Given the description of an element on the screen output the (x, y) to click on. 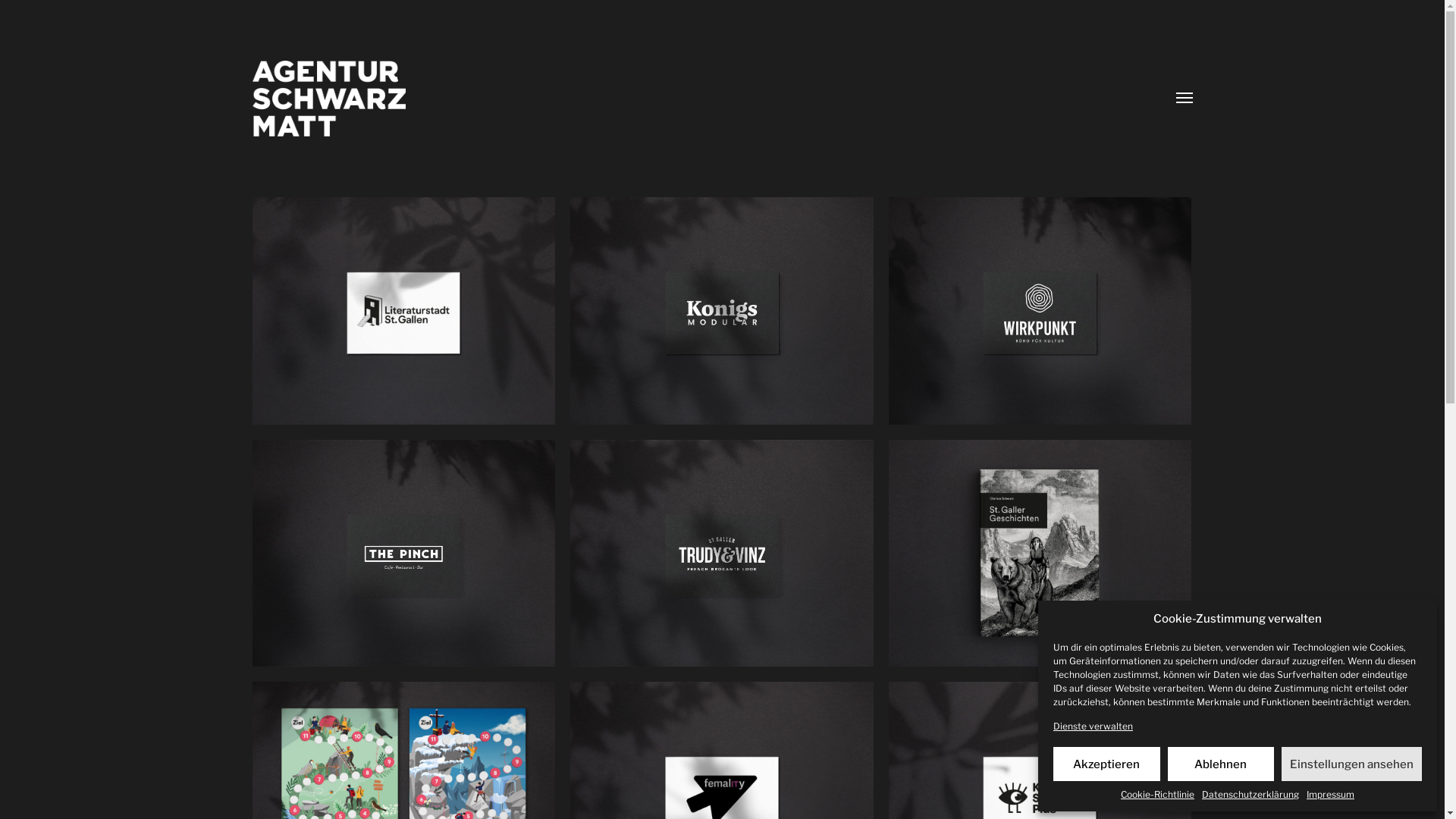
Ablehnen Element type: text (1220, 763)
Dienste verwalten Element type: text (1092, 725)
Impressum Element type: text (1330, 794)
Einstellungen ansehen Element type: text (1351, 763)
Agentur Schwarzmatt GmbH Element type: text (691, 98)
Akzeptieren Element type: text (1106, 763)
Cookie-Richtlinie Element type: text (1157, 794)
